Given the description of an element on the screen output the (x, y) to click on. 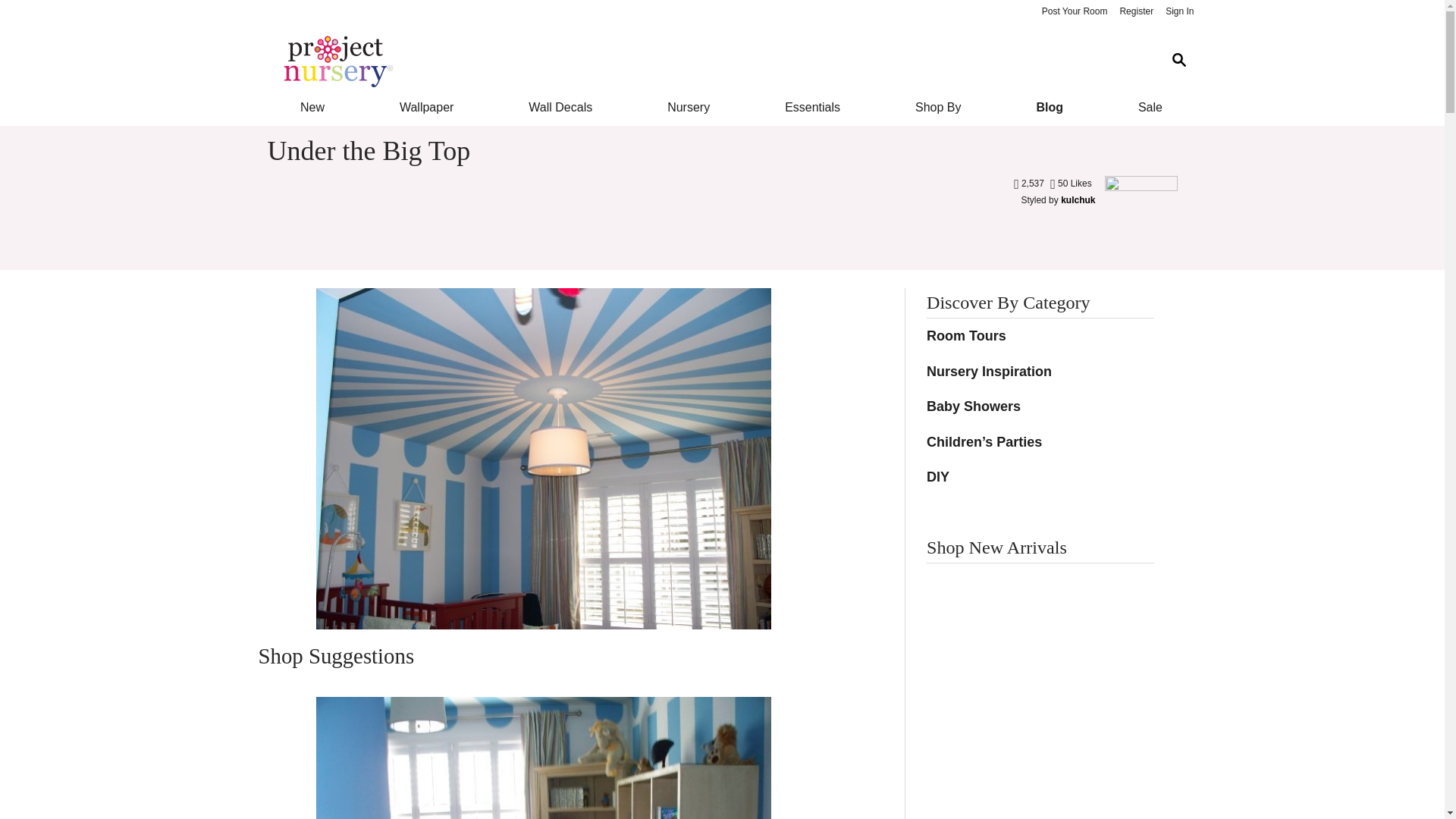
Project Nursery (709, 60)
Post Your Room (1074, 11)
Nursery (689, 107)
Register (1135, 11)
Wallpaper (425, 107)
Wall Decals (561, 107)
New (311, 107)
Post Your Room (1074, 11)
Sign In (1178, 11)
Search (1178, 60)
